Given the description of an element on the screen output the (x, y) to click on. 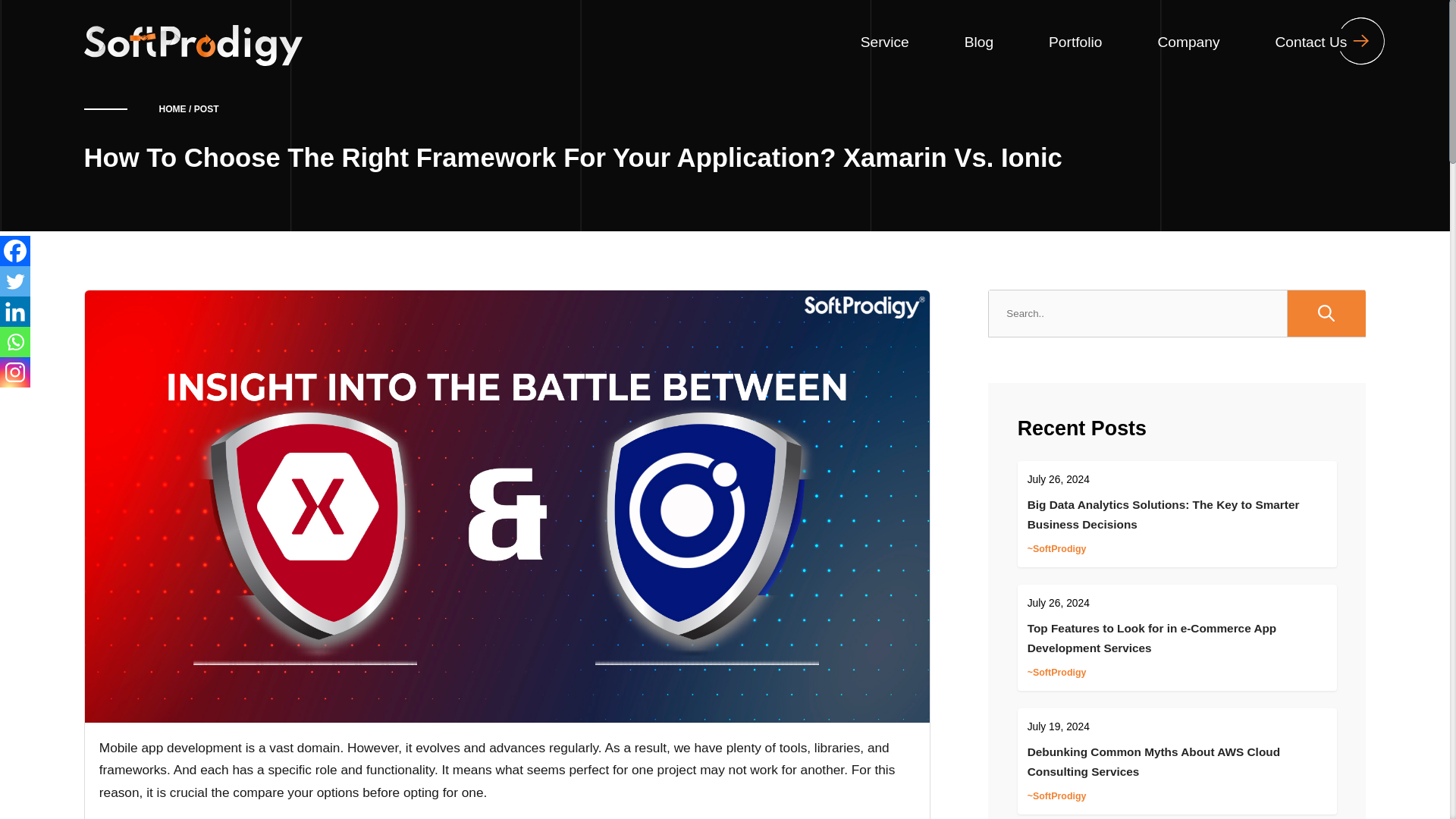
Whatsapp (15, 341)
Search (1326, 313)
Twitter (15, 281)
Instagram (15, 372)
Portfolio (1075, 41)
Contact Us (1310, 41)
Search (1326, 313)
Linkedin (15, 311)
Blog (977, 41)
Facebook (15, 250)
Company (1188, 41)
Service (884, 41)
